Given the description of an element on the screen output the (x, y) to click on. 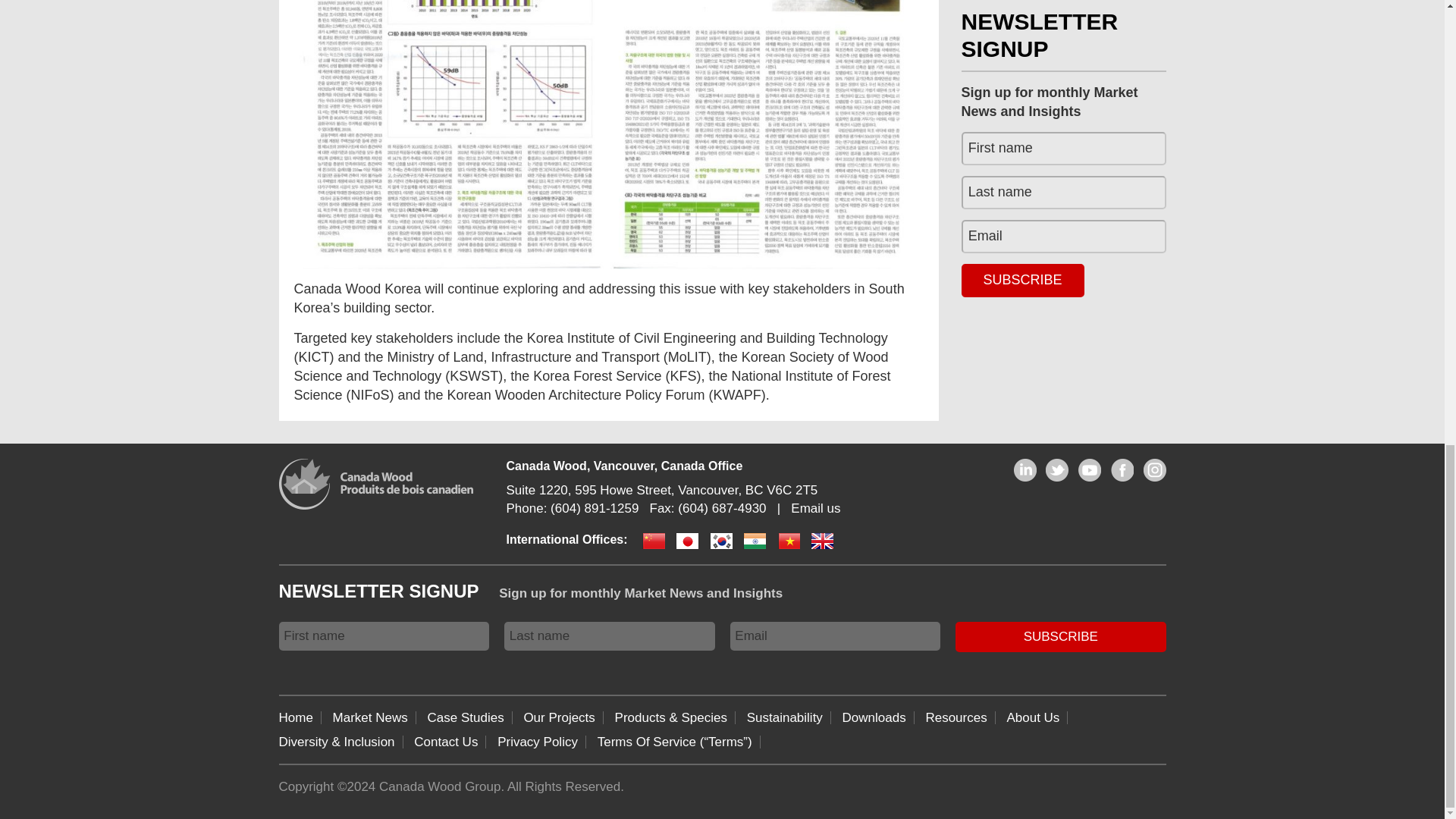
Subscribe (1022, 280)
Subscribe (1060, 636)
